Given the description of an element on the screen output the (x, y) to click on. 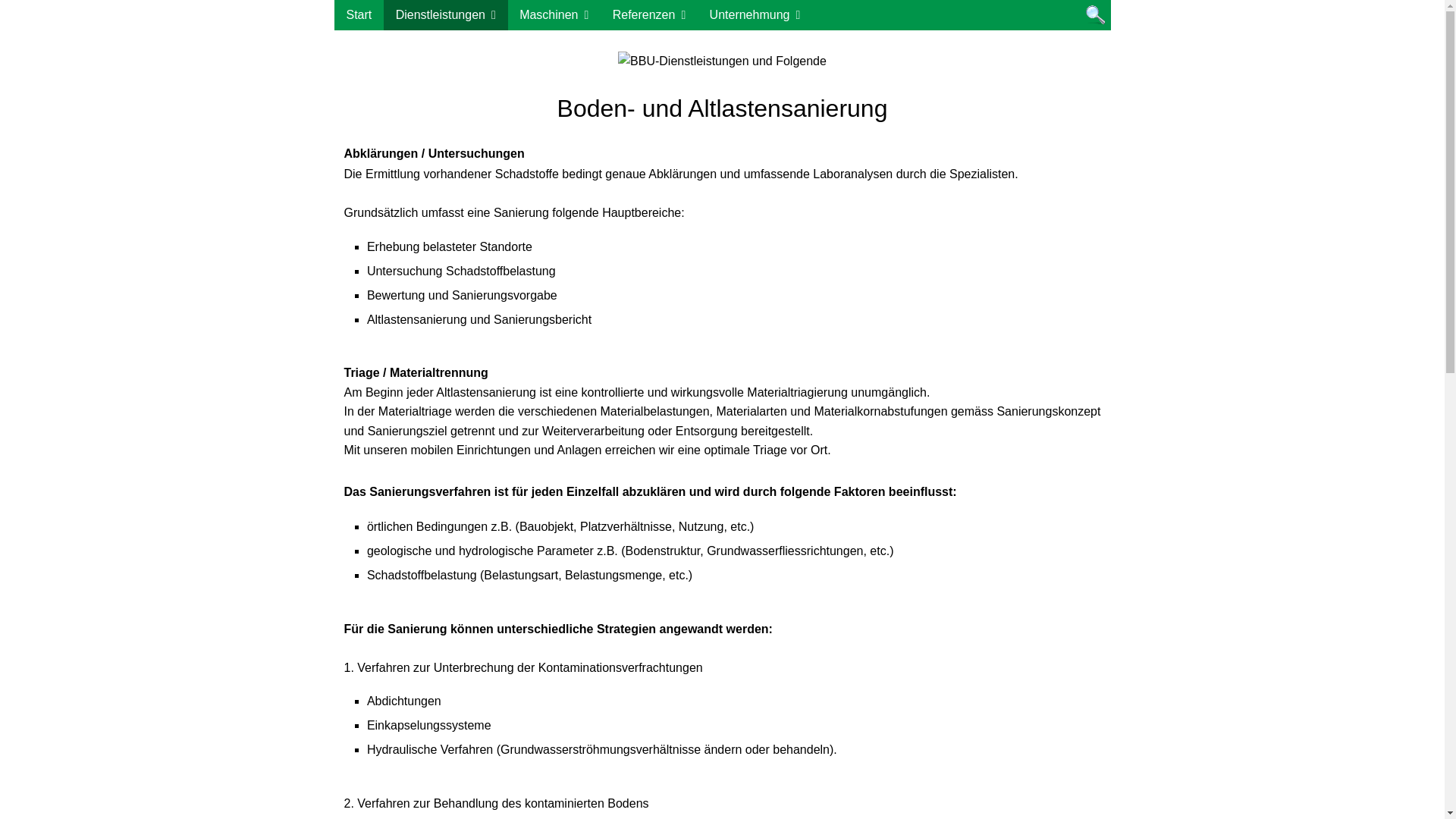
Dienstleistungen Element type: text (445, 15)
Start Element type: text (358, 15)
Maschinen Element type: text (553, 15)
Referenzen Element type: text (649, 15)
Suchen Element type: hover (1095, 14)
Unternehmung Element type: text (754, 15)
